Given the description of an element on the screen output the (x, y) to click on. 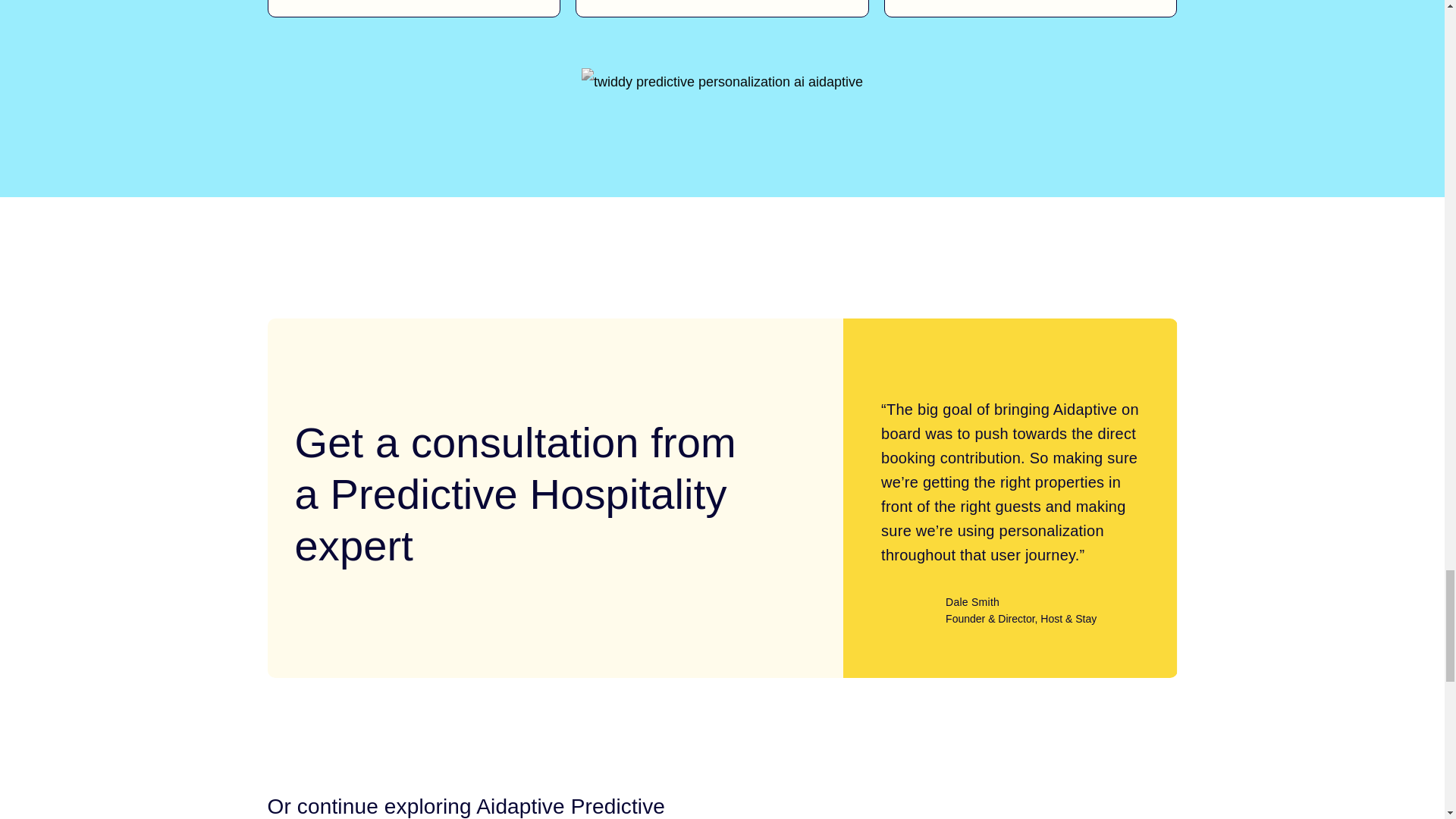
twiddy (721, 86)
